Given the description of an element on the screen output the (x, y) to click on. 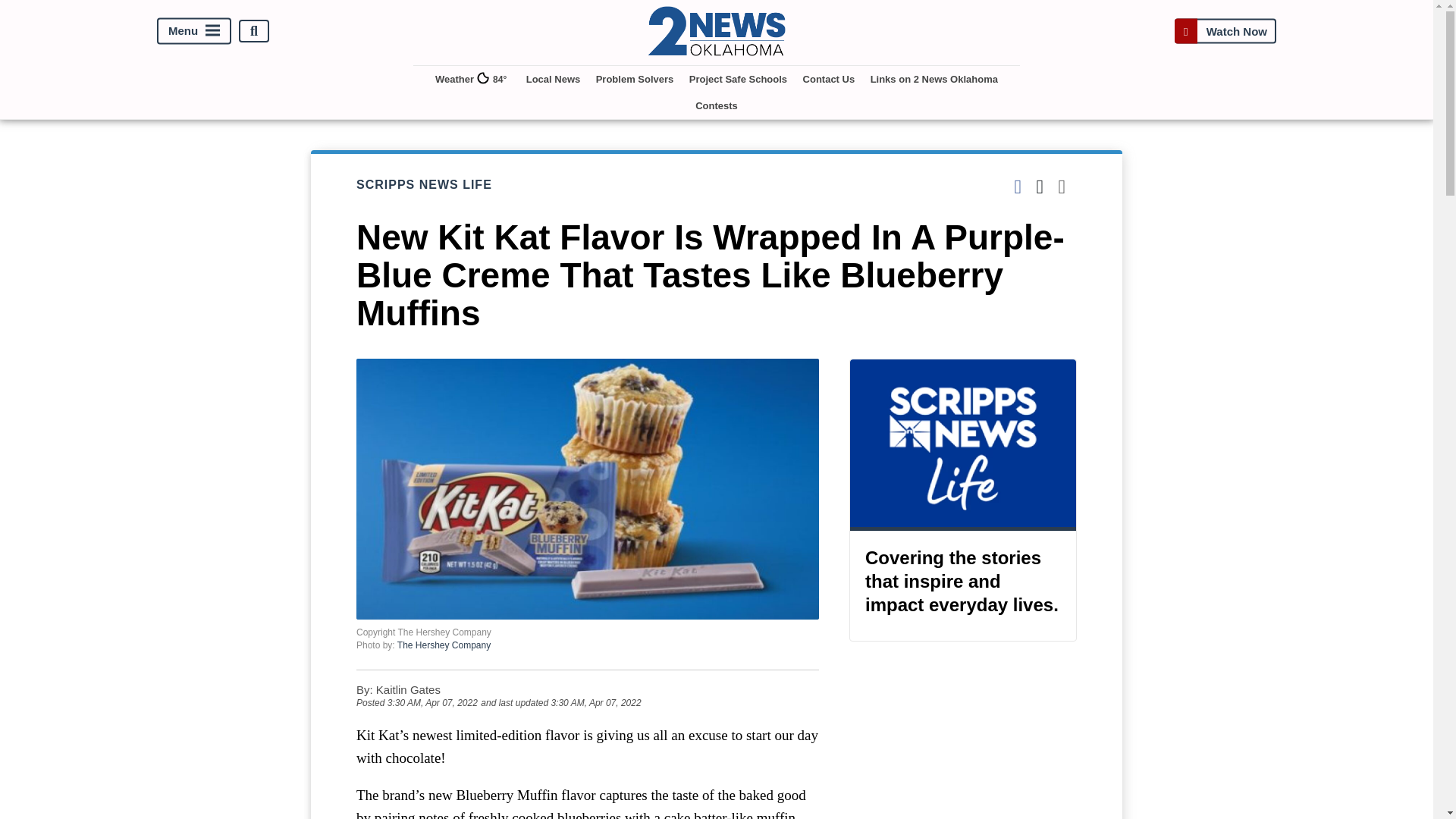
Watch Now (1224, 31)
Menu (194, 31)
